Given the description of an element on the screen output the (x, y) to click on. 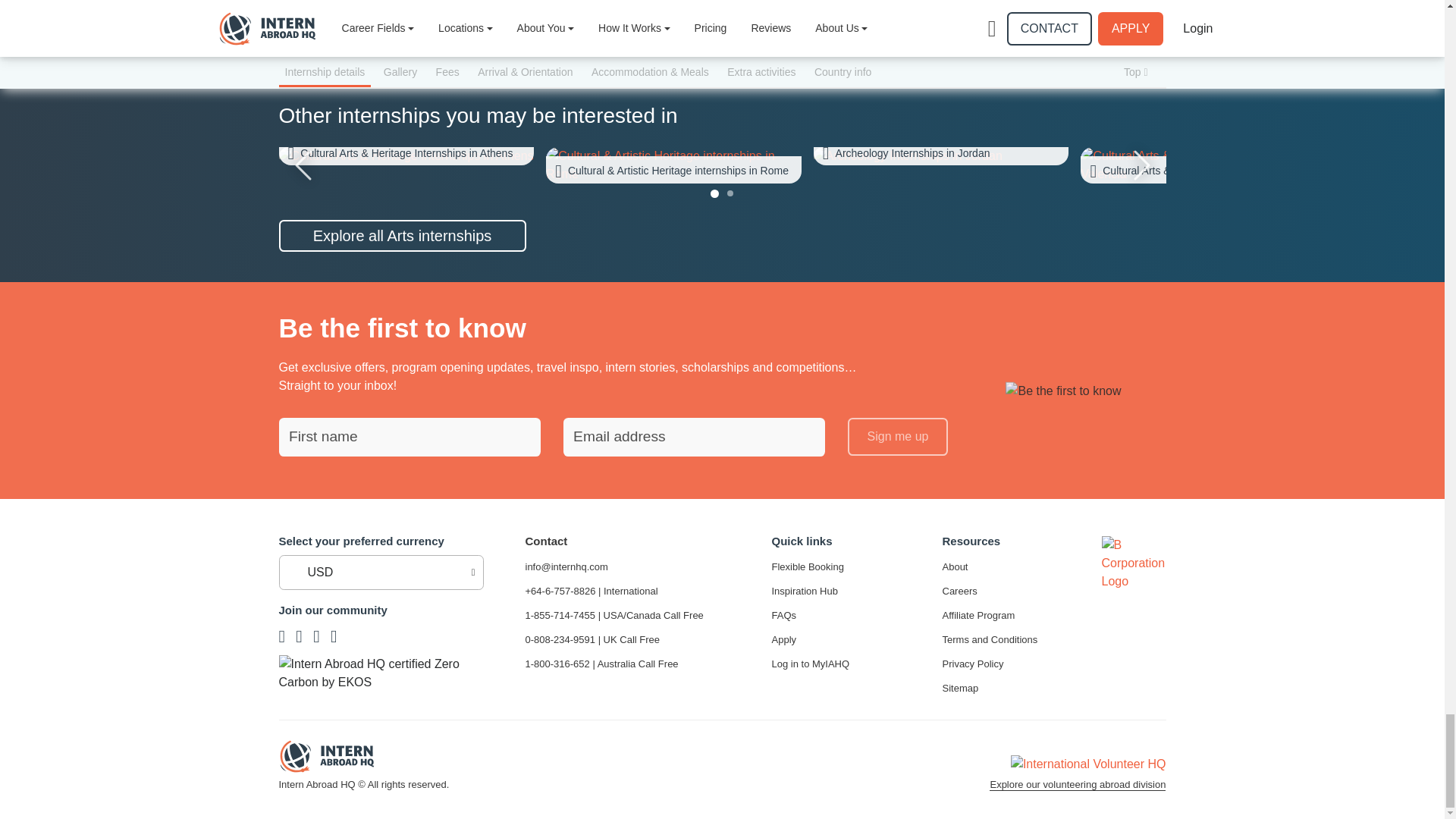
First name (409, 436)
Email (693, 436)
